Given the description of an element on the screen output the (x, y) to click on. 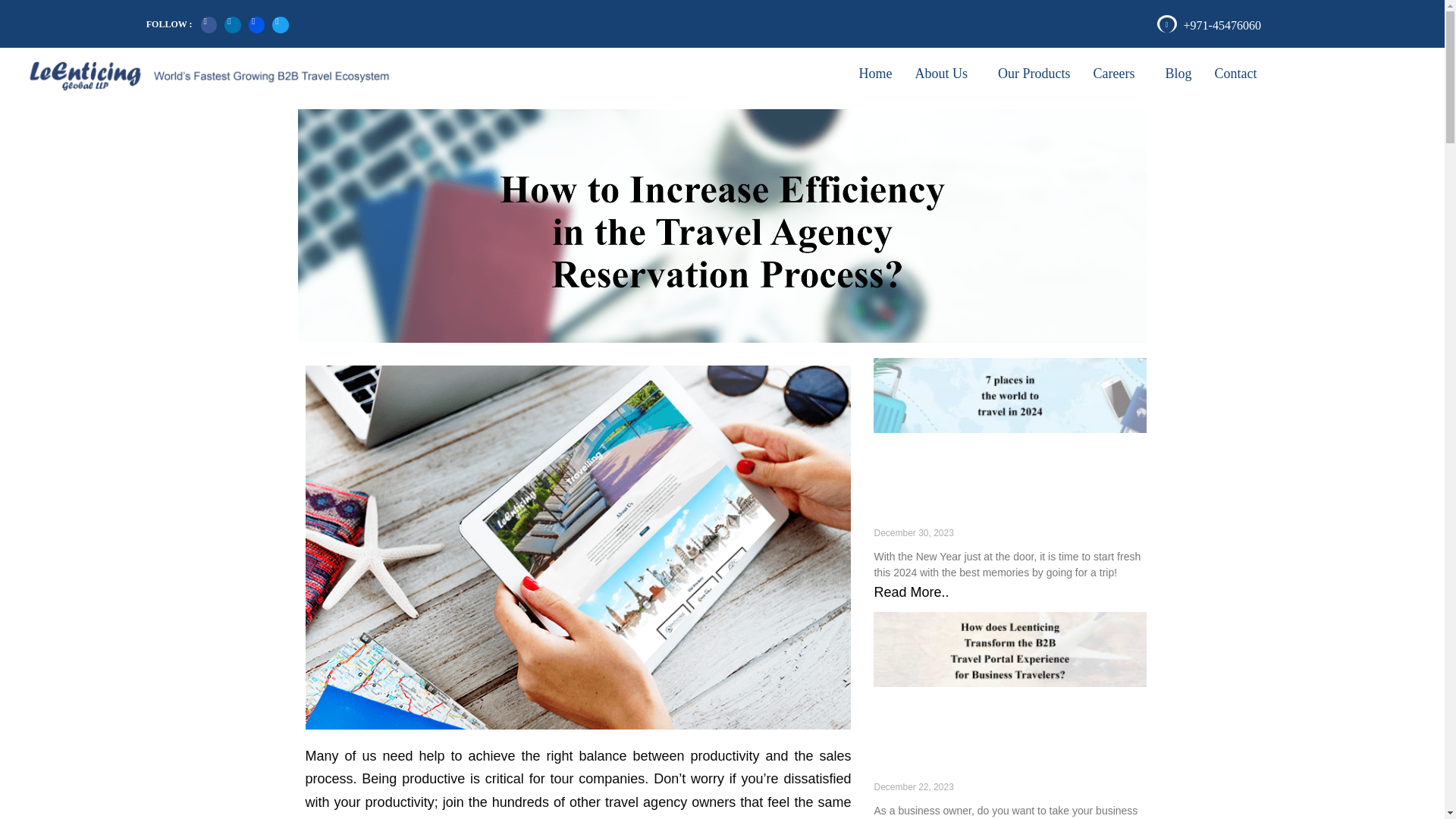
Careers (1117, 73)
Read More.. (911, 591)
Our Products (1034, 73)
Home (874, 73)
About Us (944, 73)
Blog (1177, 73)
Contact (1235, 73)
